Given the description of an element on the screen output the (x, y) to click on. 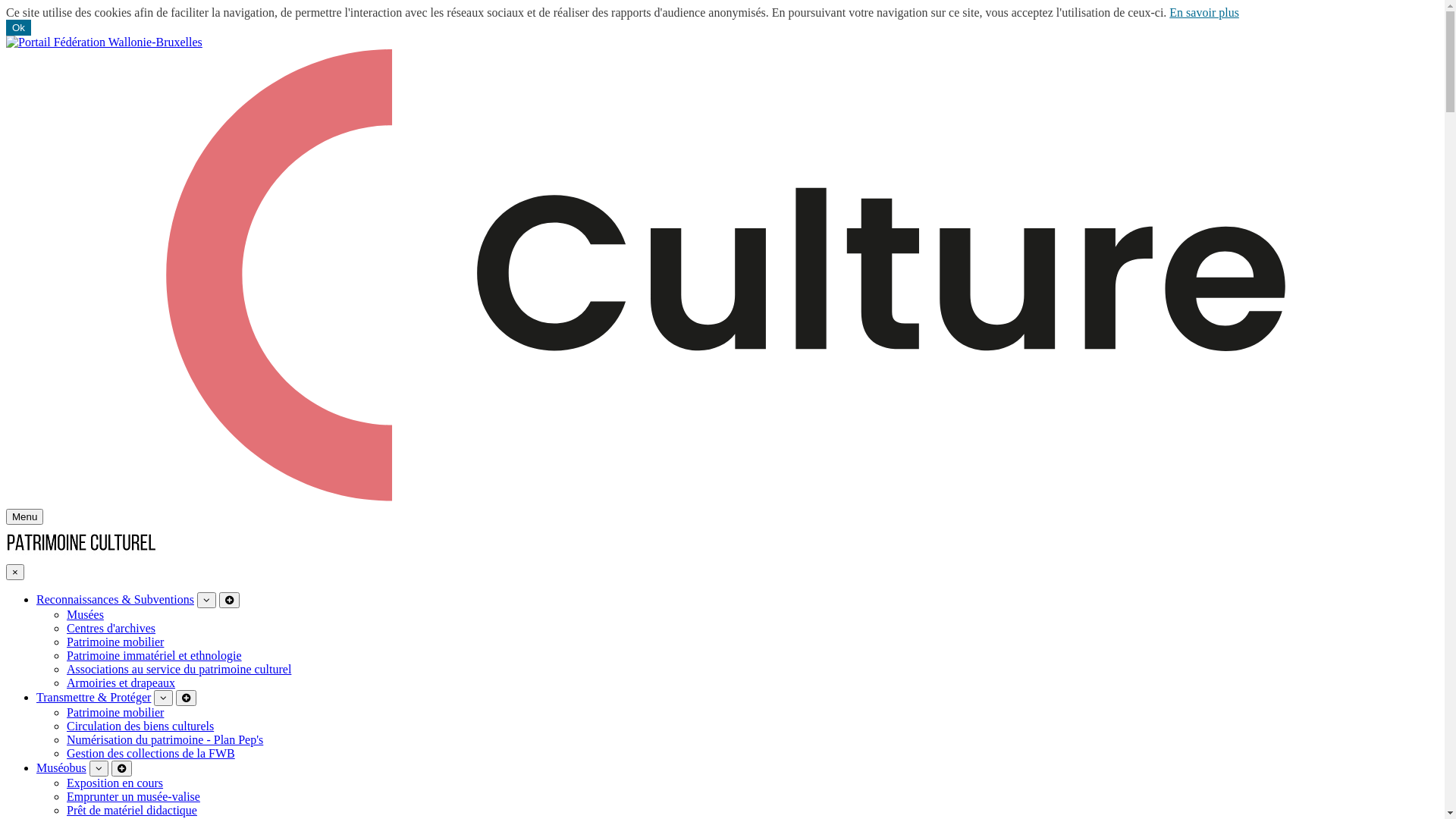
Armoiries et drapeaux Element type: text (120, 682)
Associations au service du patrimoine culturel Element type: text (178, 668)
Gestion des collections de la FWB Element type: text (150, 752)
Reconnaissances & Subventions Element type: text (115, 599)
Menu Element type: text (24, 516)
Patrimoine mobilier Element type: text (114, 641)
Exposition en cours Element type: text (114, 782)
Aller au contenu principal Element type: text (5, 34)
Ok Element type: text (18, 27)
Circulation des biens culturels Element type: text (139, 725)
En savoir plus Element type: text (1204, 12)
Centres d'archives Element type: text (110, 627)
Patrimoine mobilier Element type: text (114, 712)
